Given the description of an element on the screen output the (x, y) to click on. 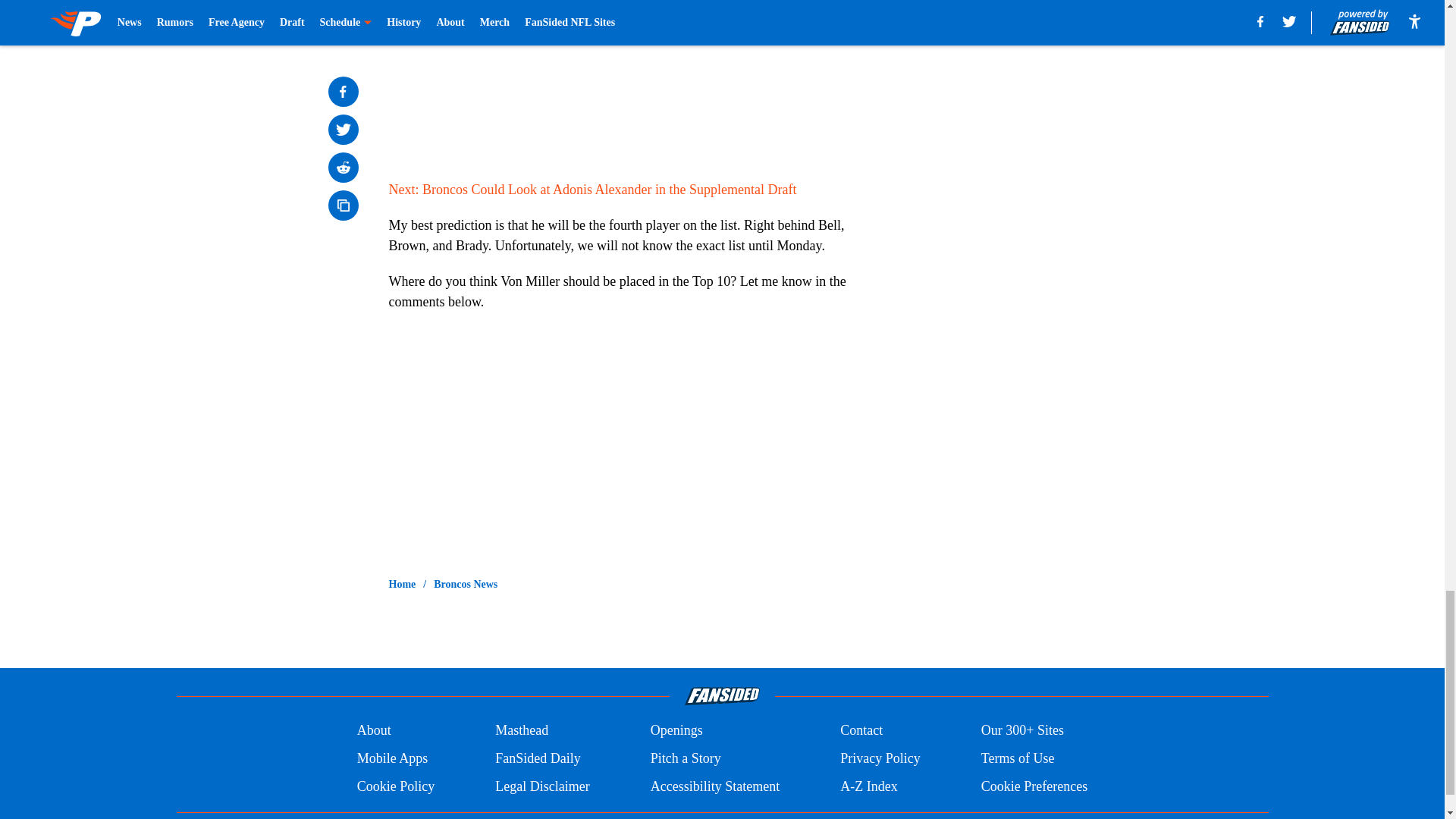
Broncos News (465, 584)
Privacy Policy (880, 758)
Contact (861, 730)
Pitch a Story (685, 758)
About (373, 730)
FanSided Daily (537, 758)
Openings (676, 730)
Masthead (521, 730)
Home (401, 584)
Mobile Apps (392, 758)
Cookie Policy (395, 786)
Terms of Use (1017, 758)
